Given the description of an element on the screen output the (x, y) to click on. 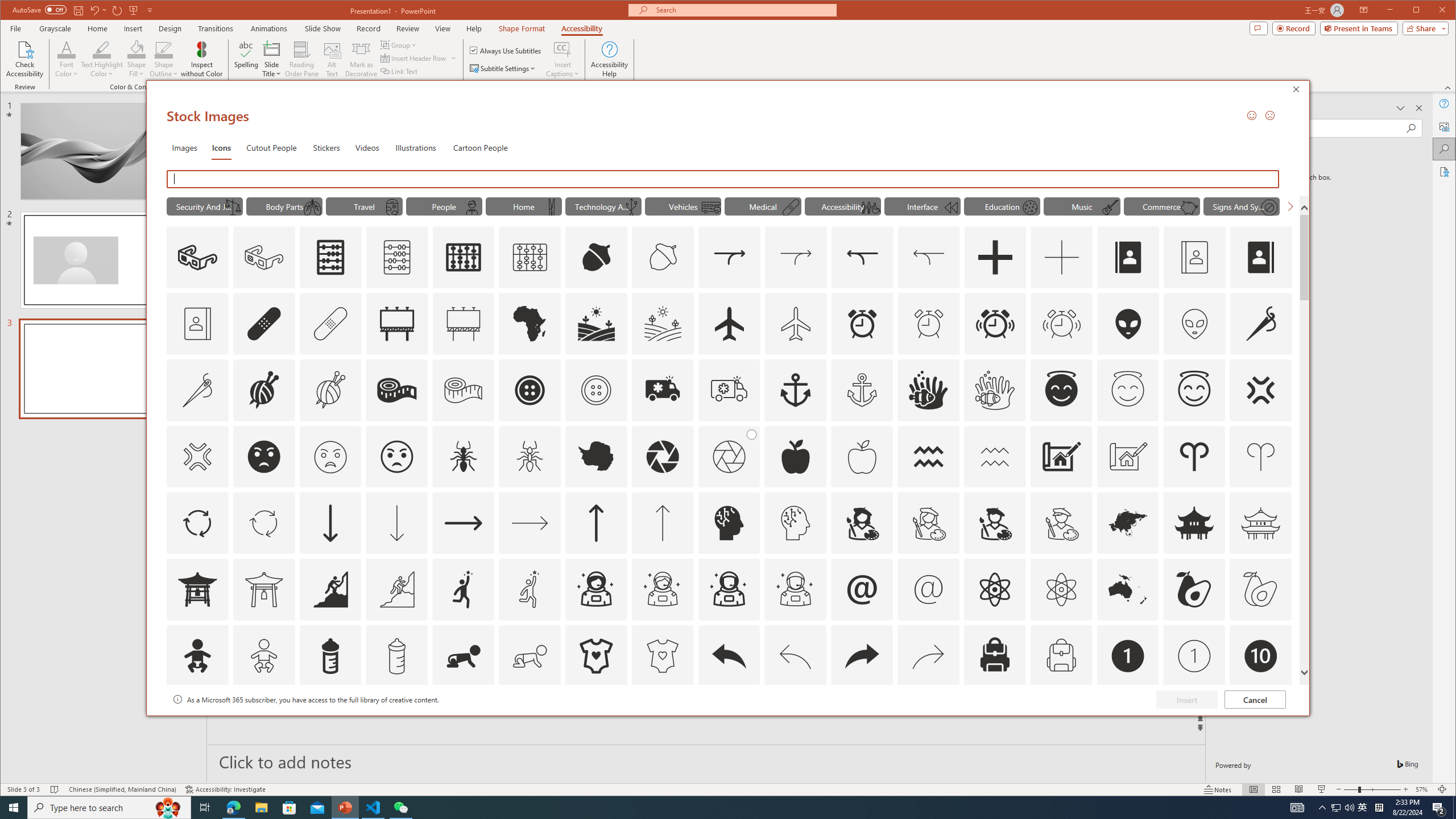
AutomationID: Icons_AstronautMale (729, 589)
Insert Captions (562, 48)
Text Highlight Color (102, 59)
AutomationID: Icons_AlarmClock (861, 323)
Spell Check No Errors (55, 789)
AutomationID: Icons_Acquisition_RTL (861, 256)
Zoom 57% (1422, 789)
Always Use Subtitles (505, 49)
AutomationID: Icons_Badge3_M (462, 721)
AutomationID: Icons_Acorn_M (663, 256)
"Commerce" Icons. (1161, 206)
